Given the description of an element on the screen output the (x, y) to click on. 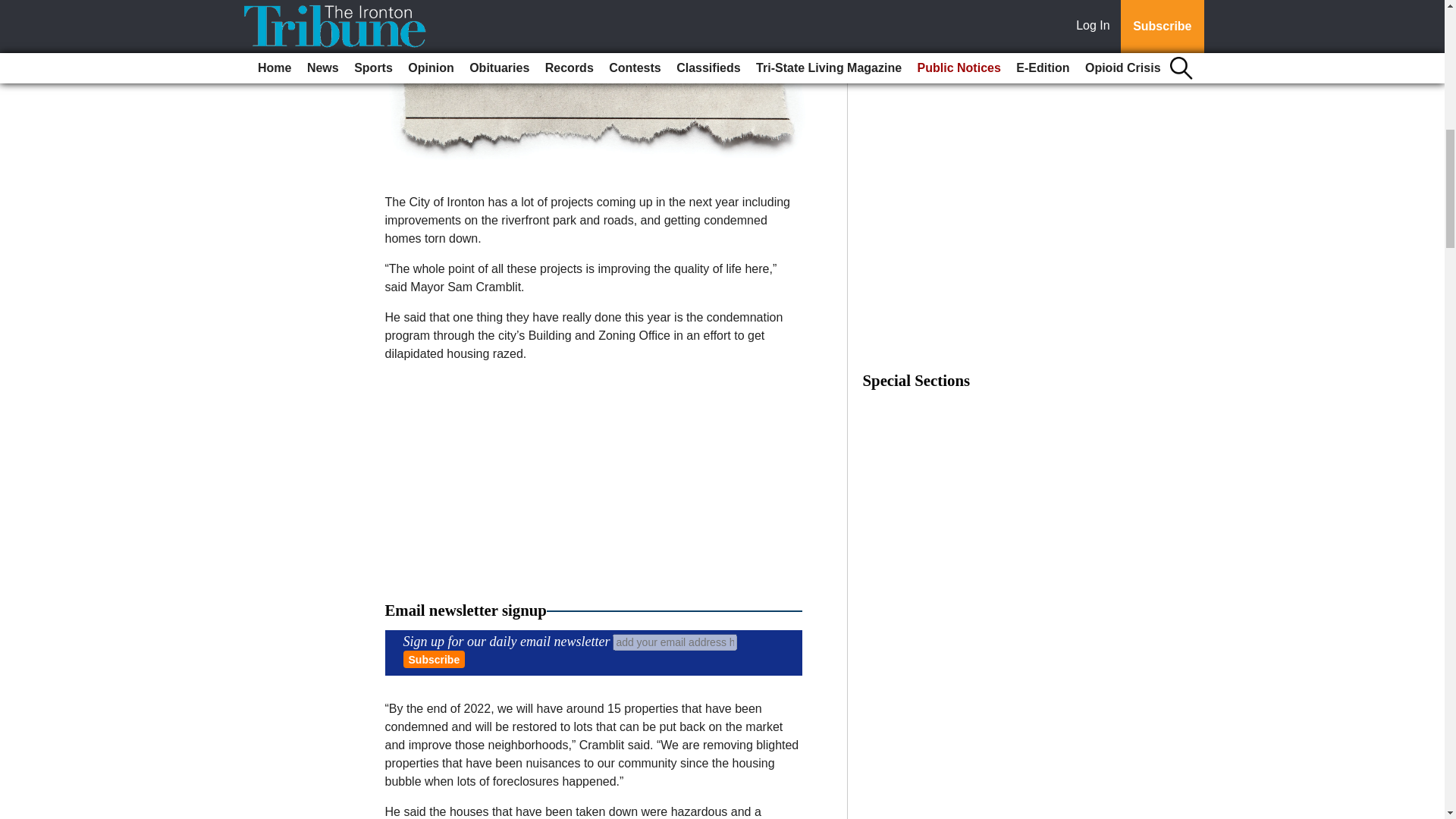
Subscribe (434, 659)
Subscribe (434, 659)
